Given the description of an element on the screen output the (x, y) to click on. 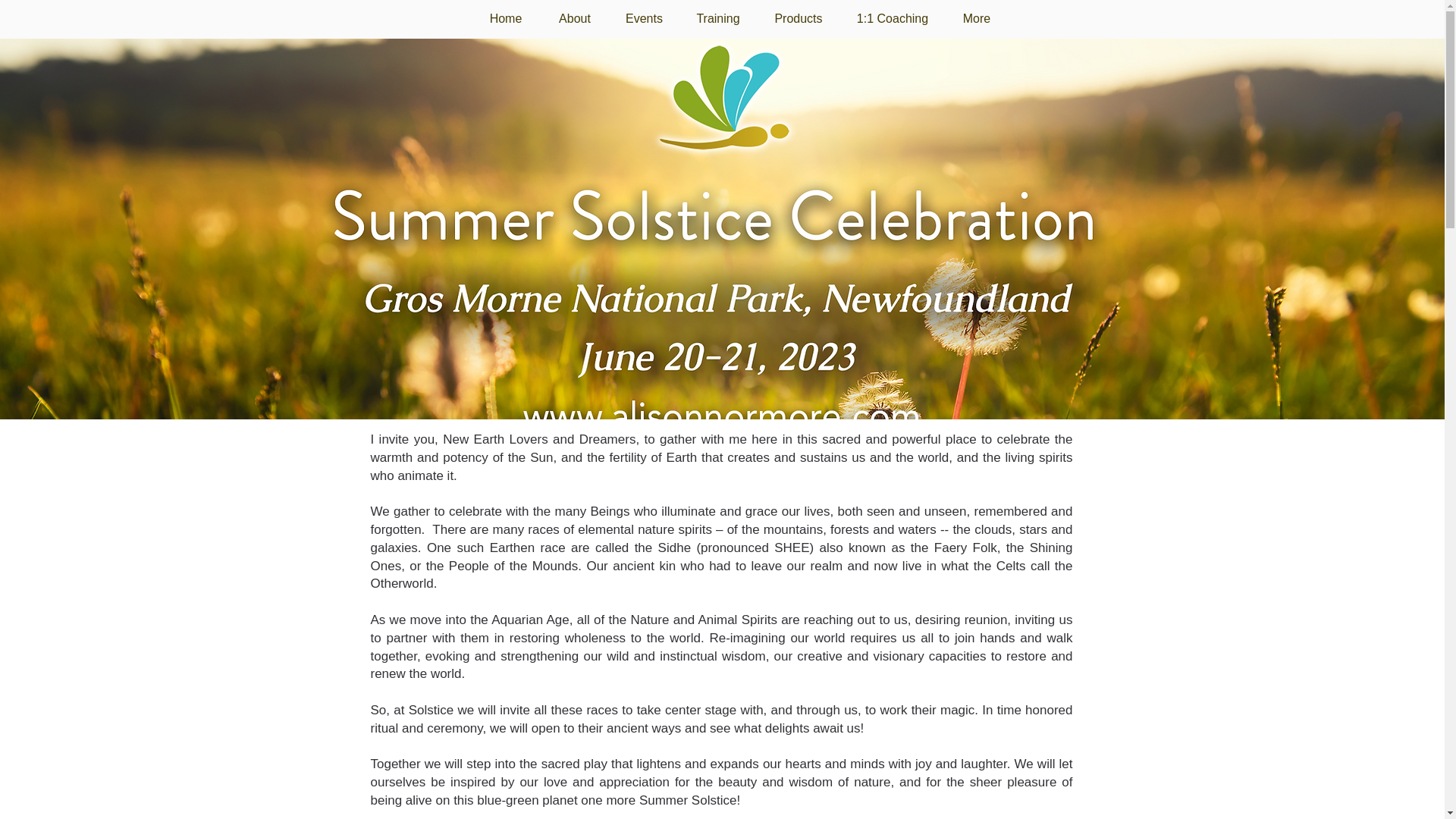
Training (718, 18)
Home (505, 18)
About (574, 18)
1:1 Coaching (892, 18)
Products (798, 18)
